Given the description of an element on the screen output the (x, y) to click on. 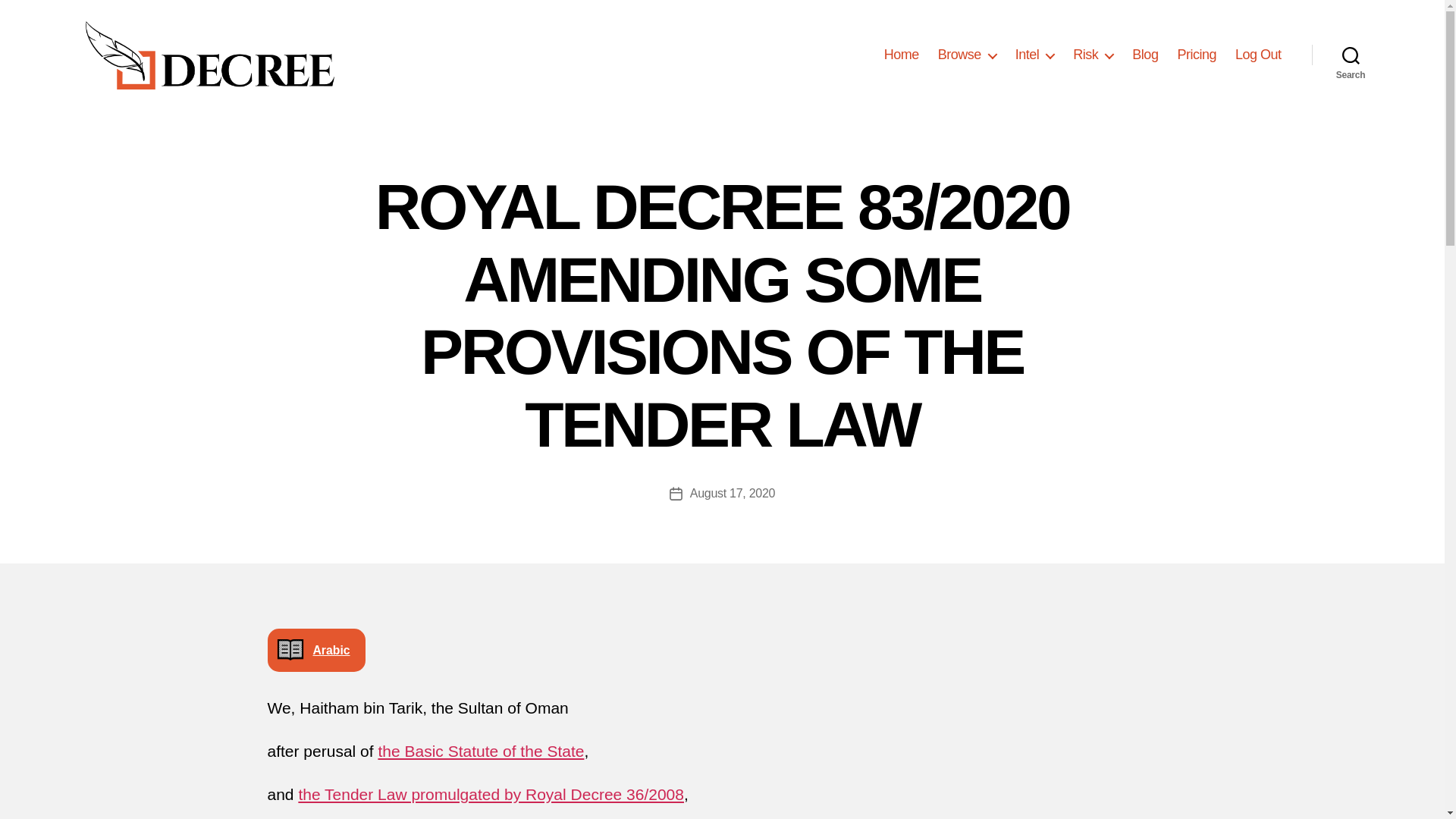
Search (1350, 55)
Pricing (1195, 54)
Home (900, 54)
Blog (1144, 54)
Browse (966, 54)
Intel (1034, 54)
Risk (1093, 54)
Log Out (1257, 54)
